Given the description of an element on the screen output the (x, y) to click on. 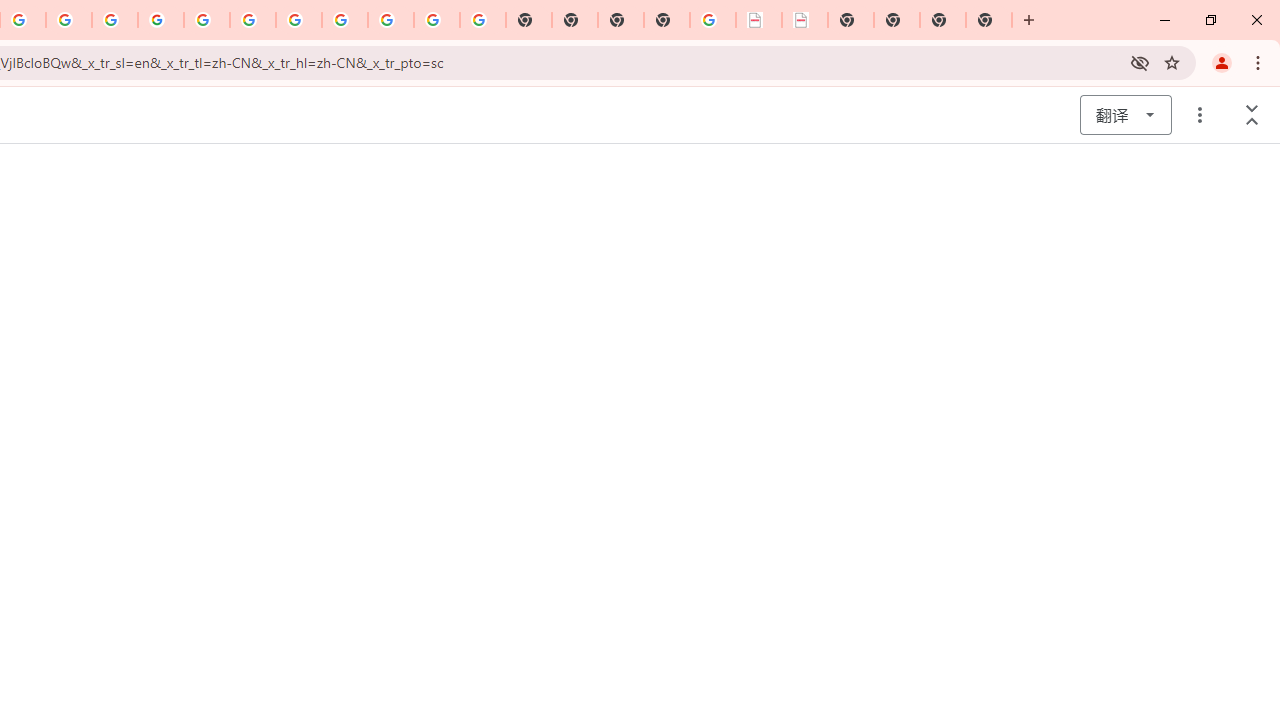
Google Images (482, 20)
New Tab (989, 20)
BAE Systems Brasil | BAE Systems (805, 20)
